Given the description of an element on the screen output the (x, y) to click on. 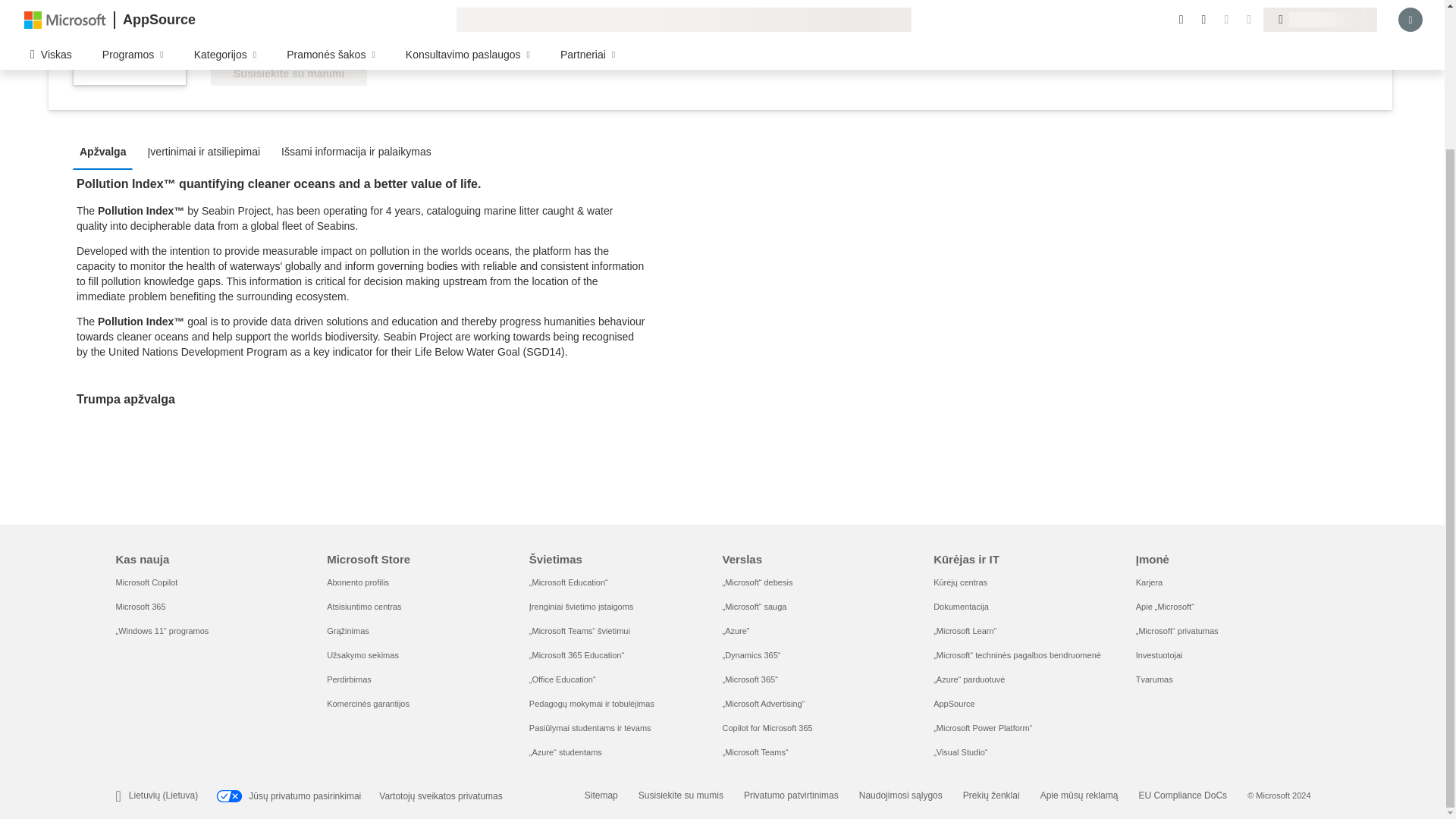
Abonento profilis (357, 582)
Susisiekite su manimi (288, 73)
Microsoft Copilot (146, 582)
Perdirbimas (348, 678)
Atsisiuntimo centras (363, 605)
Microsoft 365 (140, 605)
